Given the description of an element on the screen output the (x, y) to click on. 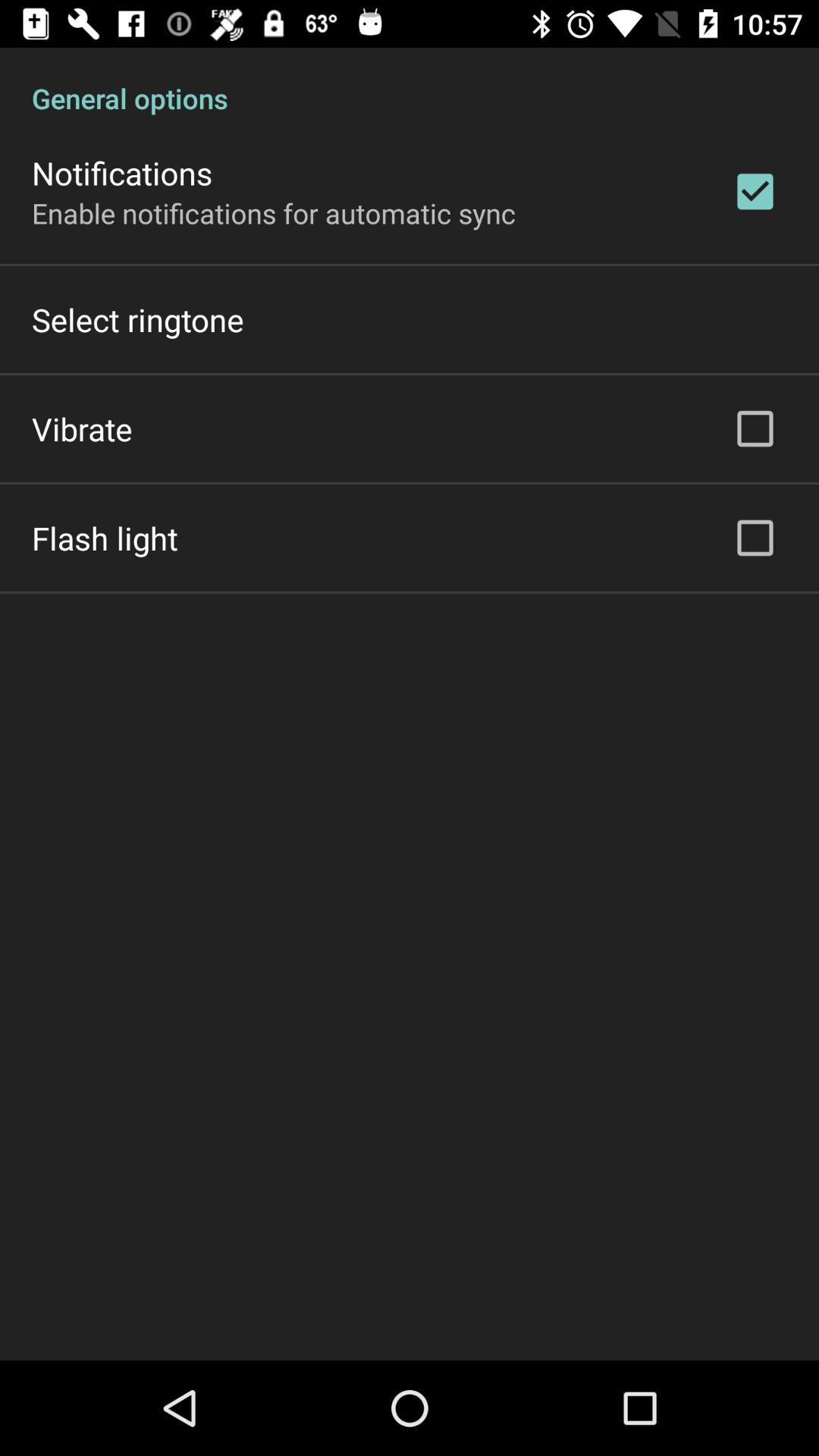
open icon above the flash light icon (81, 428)
